Given the description of an element on the screen output the (x, y) to click on. 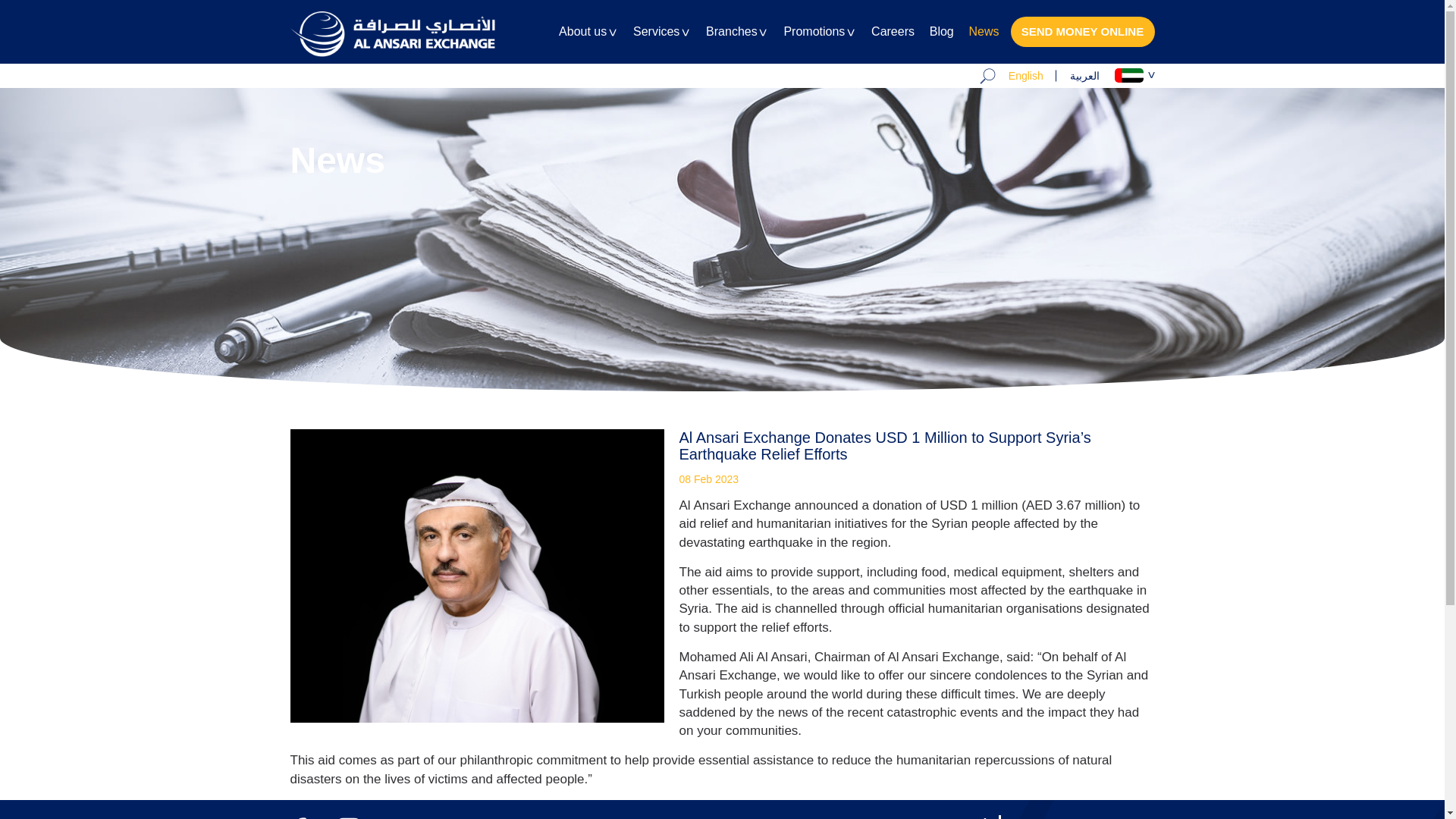
Services (661, 43)
SEND MONEY ONLINE (1082, 31)
About us (588, 43)
Branches (737, 43)
